Given the description of an element on the screen output the (x, y) to click on. 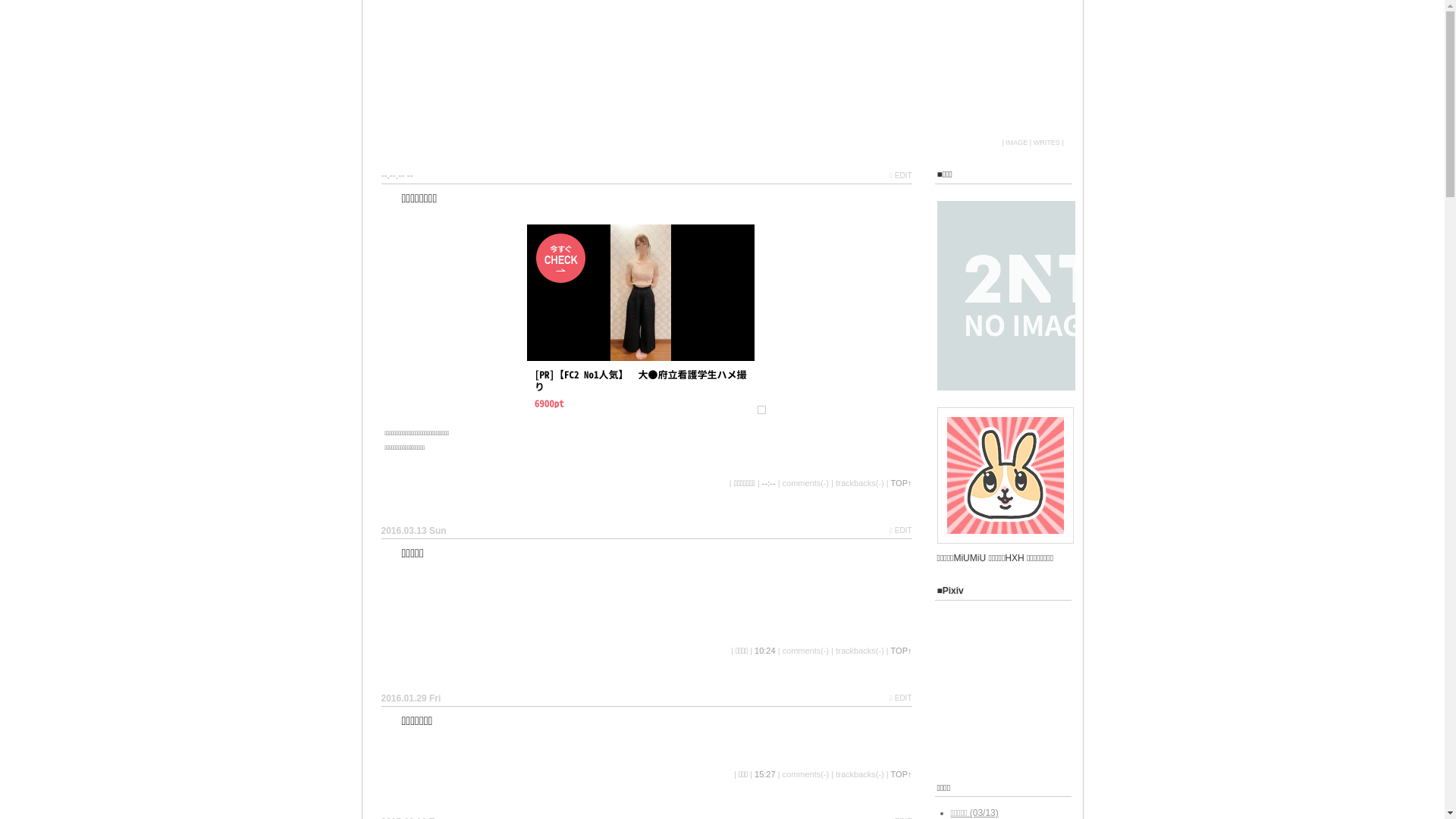
IMAGE Element type: text (1016, 142)
--:-- Element type: text (768, 481)
WRITES Element type: text (1046, 142)
15:27 Element type: text (764, 773)
10:24 Element type: text (764, 650)
